Given the description of an element on the screen output the (x, y) to click on. 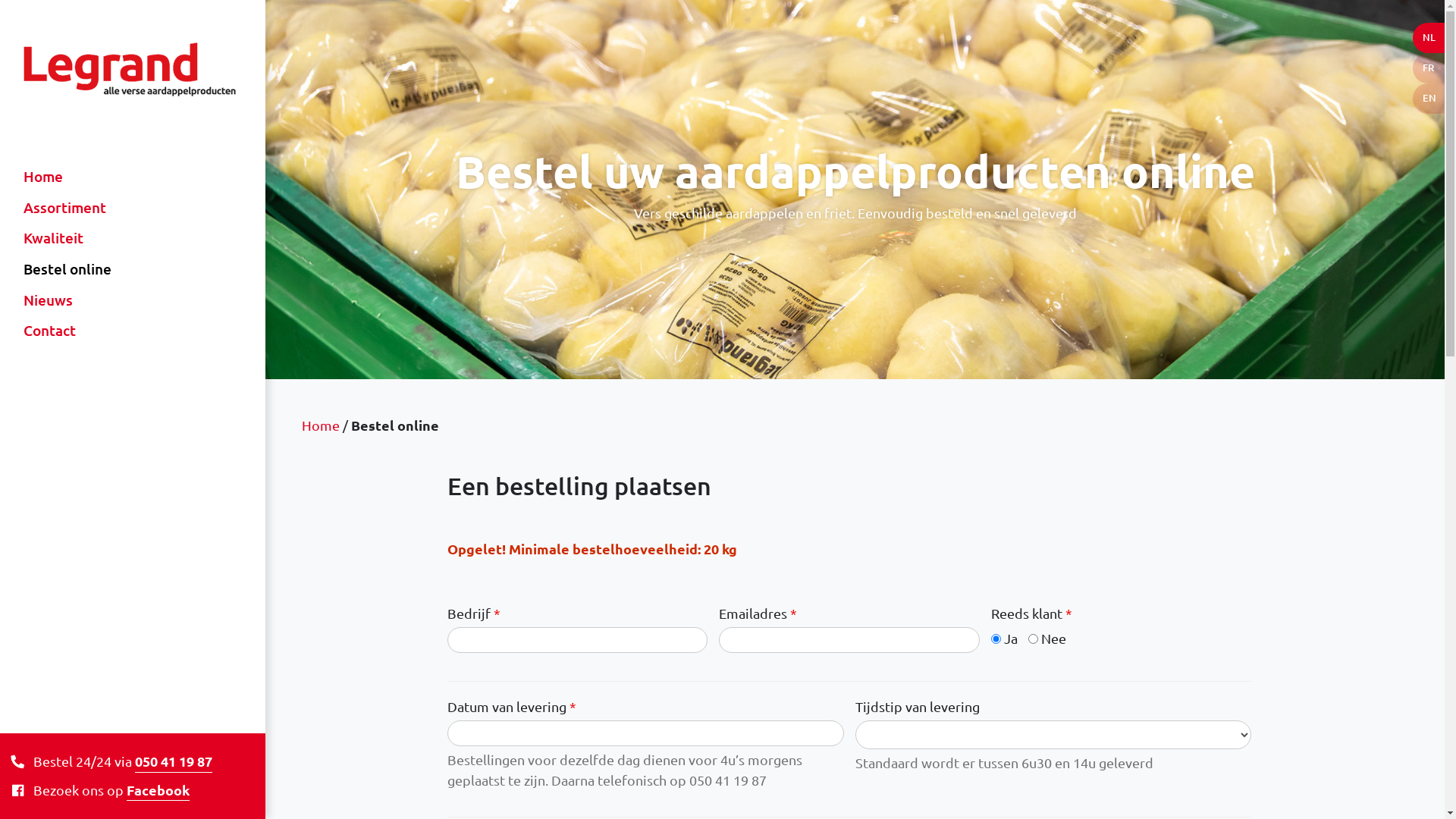
050 41 19 87 Element type: text (173, 761)
Facebook Element type: text (157, 790)
Assortiment Element type: text (67, 207)
NL Element type: text (1428, 37)
FR Element type: text (1428, 68)
Bestel online Element type: text (67, 269)
Contact Element type: text (67, 330)
Home Element type: text (320, 425)
Kwaliteit Element type: text (67, 238)
EN Element type: text (1428, 98)
Nieuws Element type: text (67, 300)
Home Element type: text (67, 176)
